Given the description of an element on the screen output the (x, y) to click on. 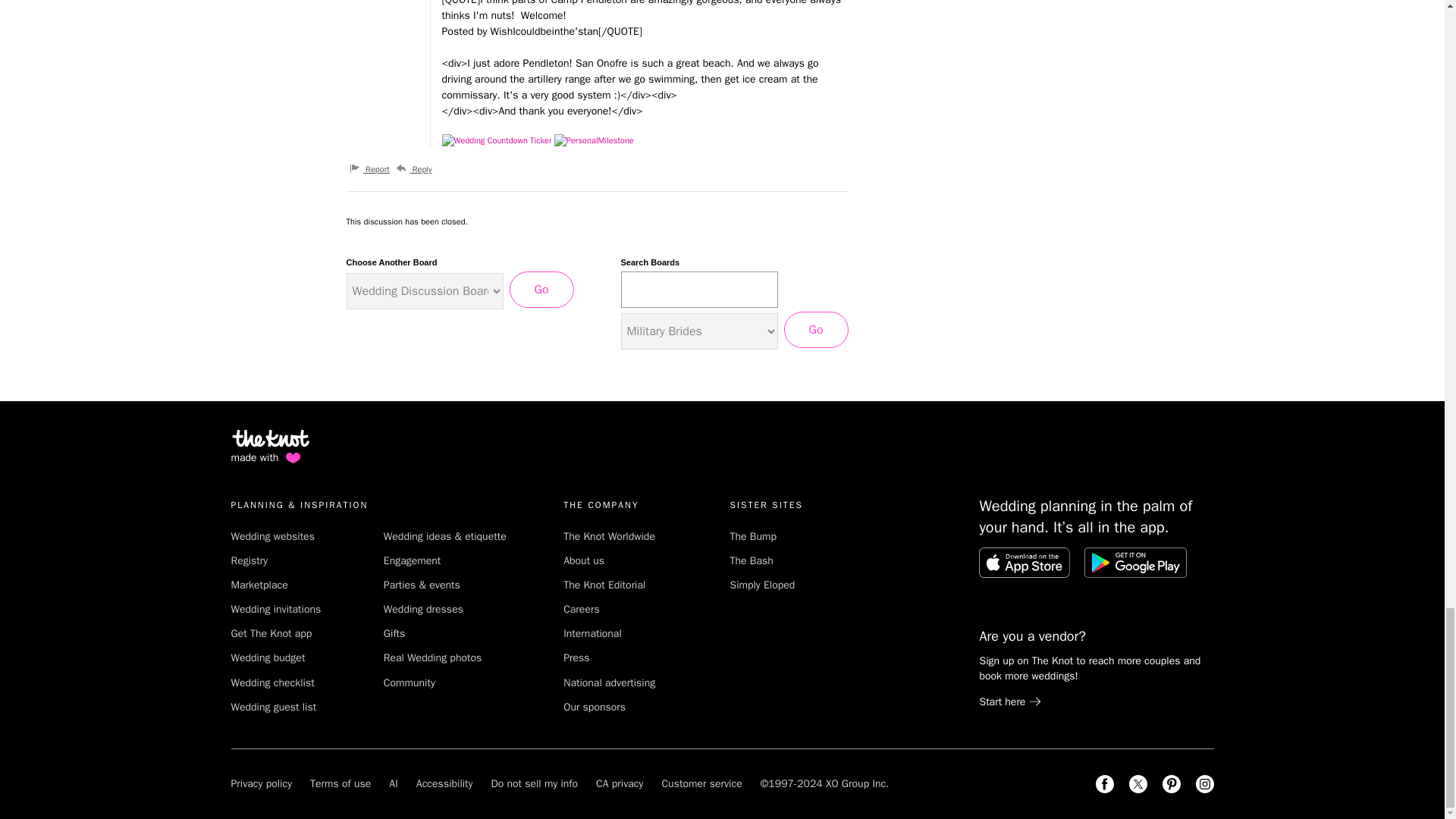
Go (541, 289)
love (292, 458)
Go (816, 330)
